Given the description of an element on the screen output the (x, y) to click on. 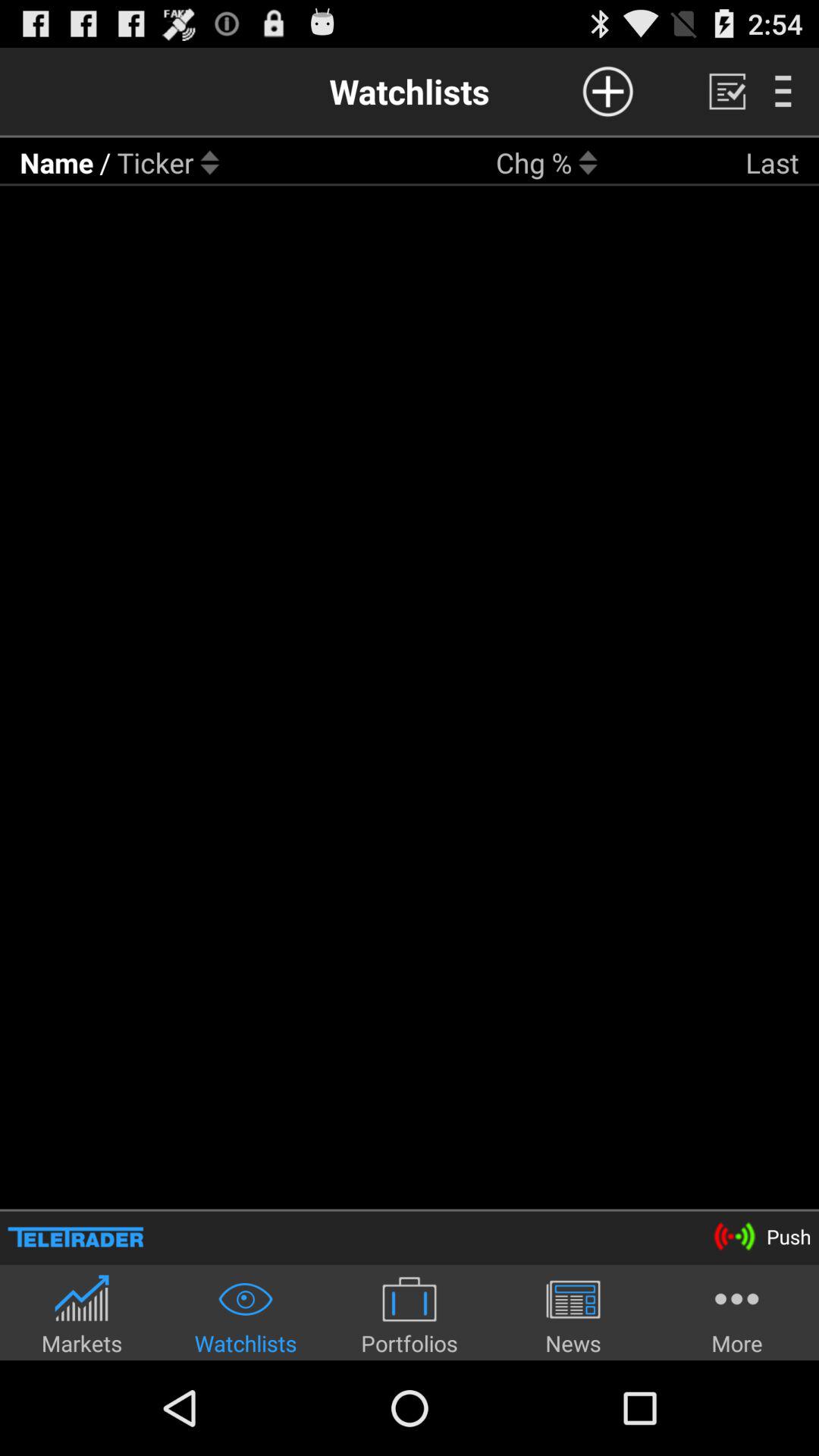
click ticker (155, 162)
